Given the description of an element on the screen output the (x, y) to click on. 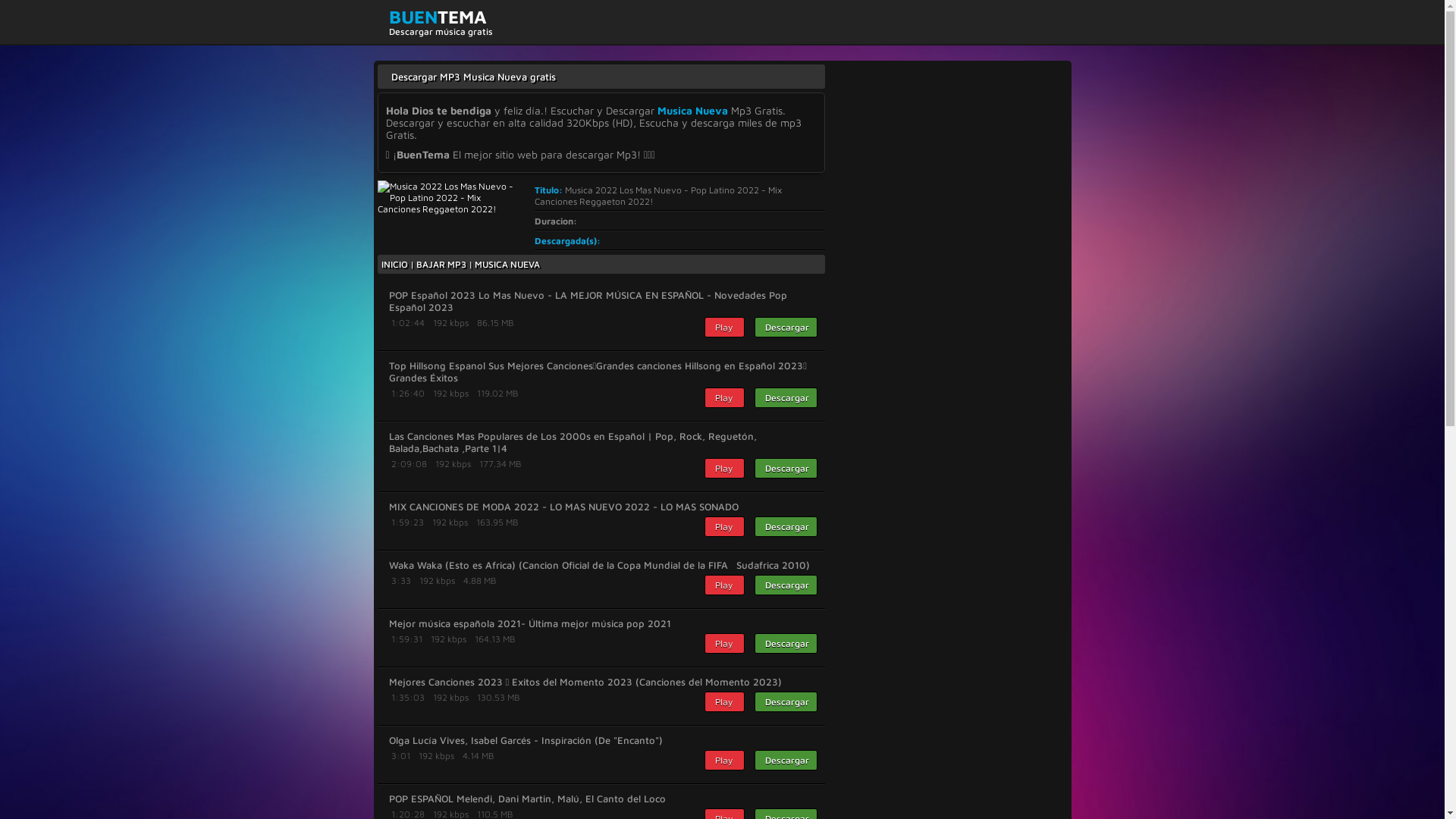
BAJAR MP3 Element type: text (440, 263)
Descargar Element type: text (784, 584)
Descargar Element type: text (784, 759)
Play Element type: text (723, 526)
INICIO Element type: text (393, 263)
Musica Nueva Element type: text (691, 109)
Descargar Element type: text (784, 526)
Descargar Element type: text (784, 397)
Play Element type: text (723, 397)
Play Element type: text (723, 643)
MUSICA NUEVA Element type: text (506, 263)
Play Element type: text (723, 584)
Descargar Element type: text (784, 701)
Play Element type: text (723, 701)
Descargar Element type: text (784, 326)
Descargar Element type: text (784, 643)
Play Element type: text (723, 326)
Descargar Element type: text (784, 468)
Play Element type: text (723, 759)
Play Element type: text (723, 468)
